Given the description of an element on the screen output the (x, y) to click on. 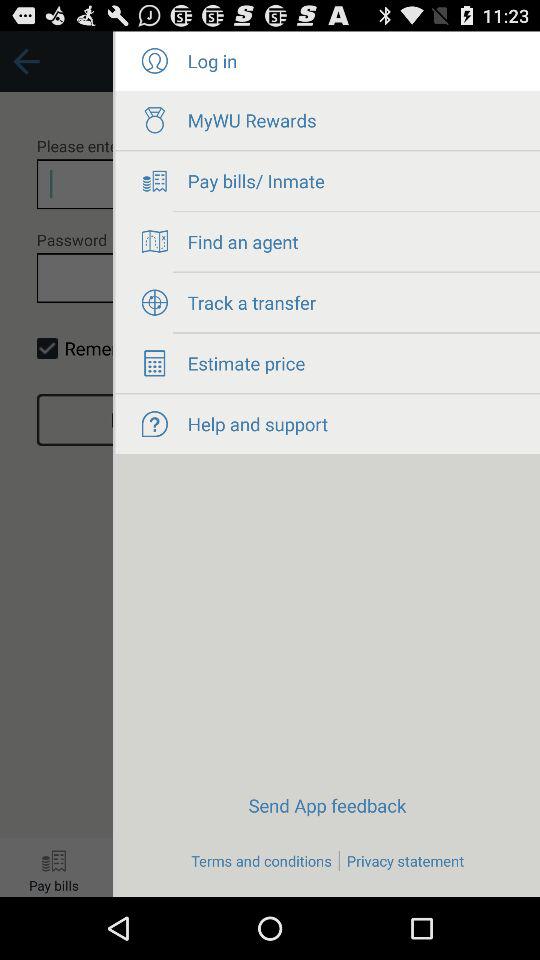
return to login (56, 464)
